Given the description of an element on the screen output the (x, y) to click on. 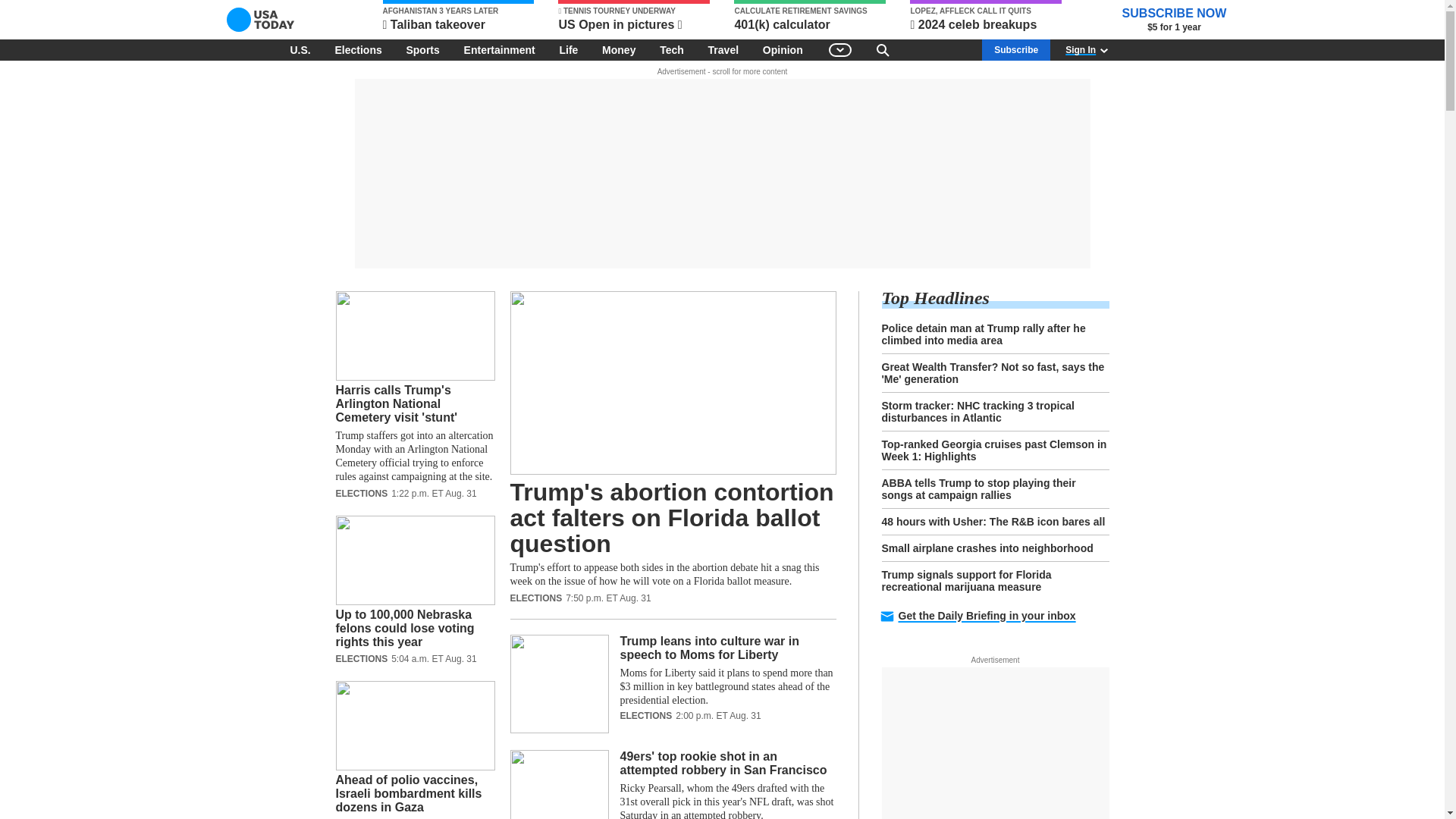
Elections (357, 49)
Money (618, 49)
Search (882, 49)
Sports (421, 49)
Opinion (782, 49)
Tech (671, 49)
Entertainment (500, 49)
U.S. (299, 49)
Travel (722, 49)
Life (568, 49)
